Given the description of an element on the screen output the (x, y) to click on. 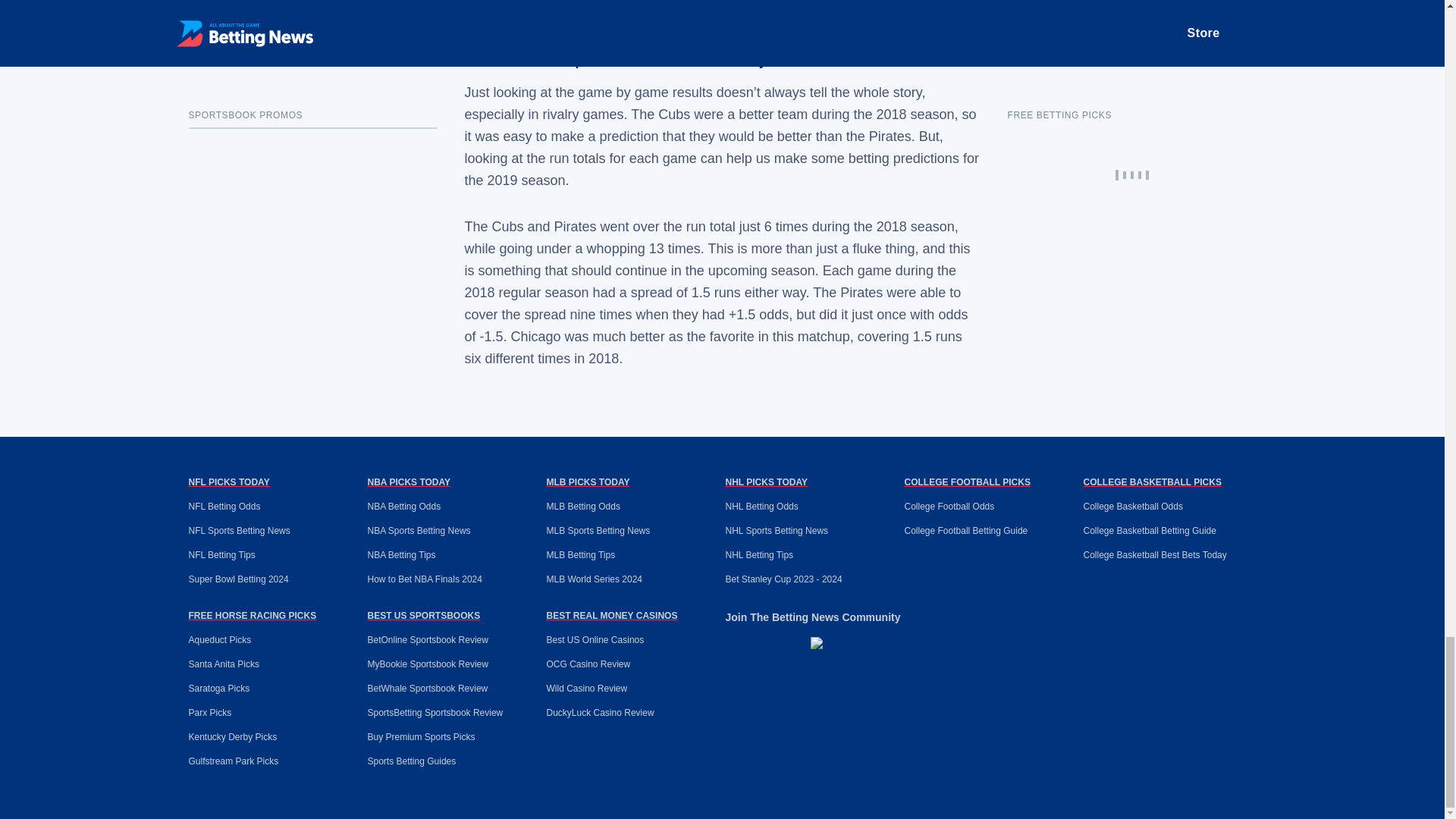
NFL PICKS TODAY (228, 481)
